Given the description of an element on the screen output the (x, y) to click on. 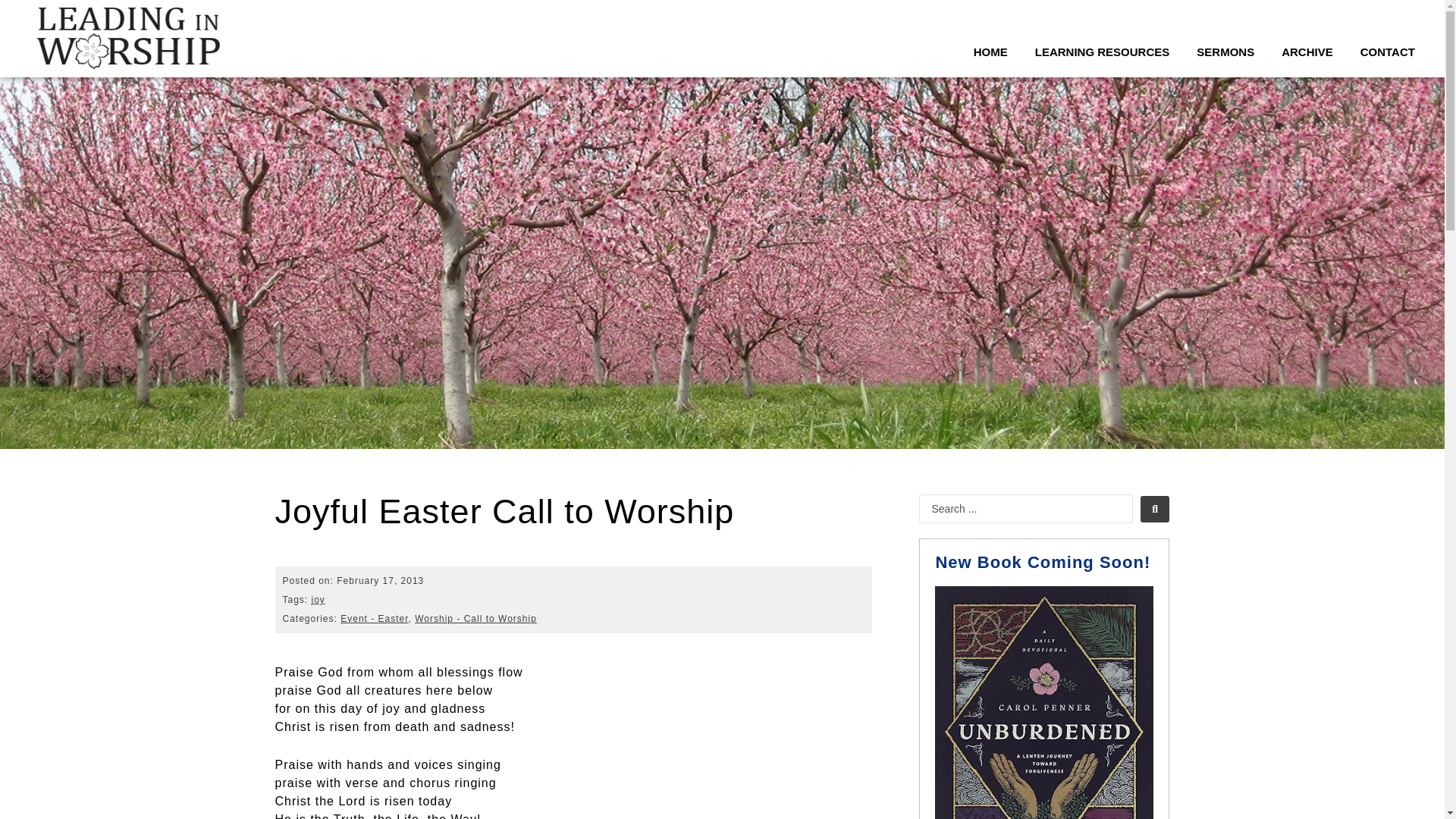
LEARNING RESOURCES (1102, 52)
SERMONS (1224, 52)
Worship - Call to Worship (475, 618)
Event - Easter (373, 618)
HOME (990, 52)
joy (317, 599)
CONTACT (1387, 52)
ARCHIVE (1307, 52)
